Given the description of an element on the screen output the (x, y) to click on. 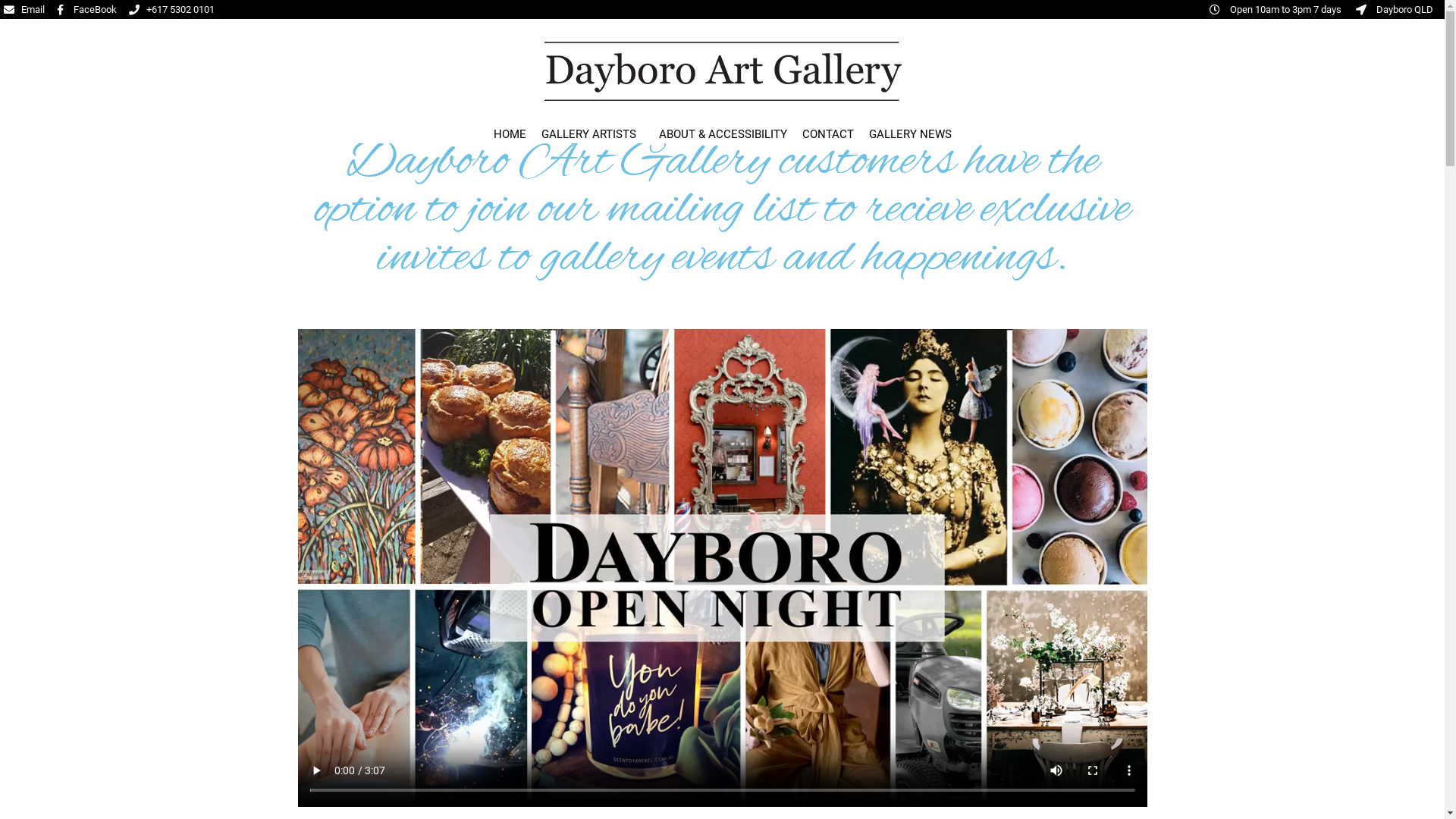
FaceBook Element type: text (86, 9)
HOME Element type: text (509, 133)
CONTACT Element type: text (827, 133)
ABOUT & ACCESSIBILITY Element type: text (721, 133)
Email Element type: text (23, 9)
GALLERY ARTISTS Element type: text (592, 133)
GALLERY NEWS Element type: text (910, 133)
+617 5302 0101 Element type: text (171, 9)
